Given the description of an element on the screen output the (x, y) to click on. 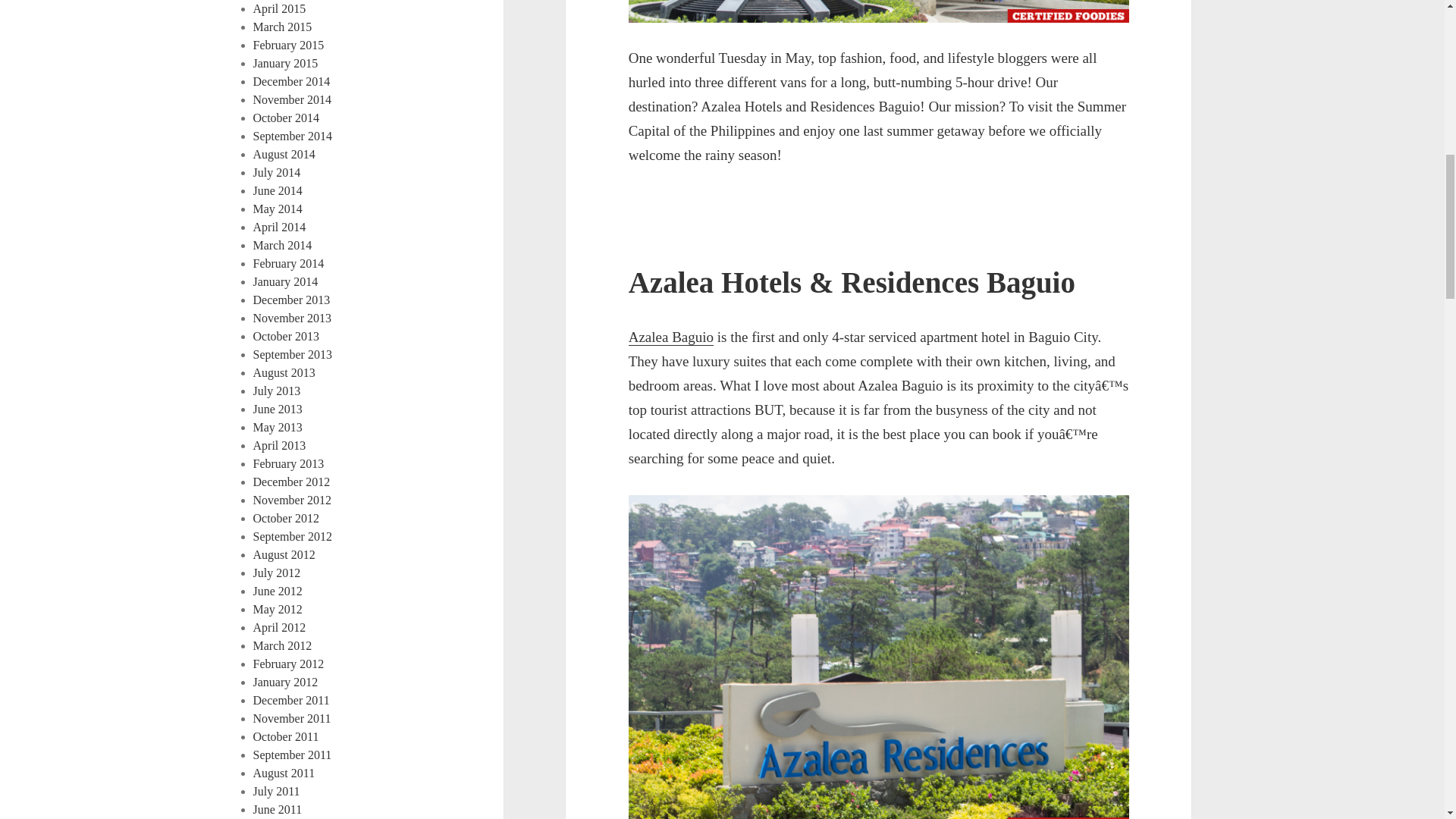
April 2014 (279, 226)
March 2015 (283, 26)
July 2014 (277, 172)
February 2015 (288, 44)
August 2014 (284, 154)
January 2015 (285, 62)
March 2014 (283, 245)
September 2014 (292, 135)
June 2014 (277, 190)
April 2015 (279, 8)
October 2014 (286, 117)
November 2014 (292, 99)
December 2014 (291, 81)
May 2014 (277, 208)
